Given the description of an element on the screen output the (x, y) to click on. 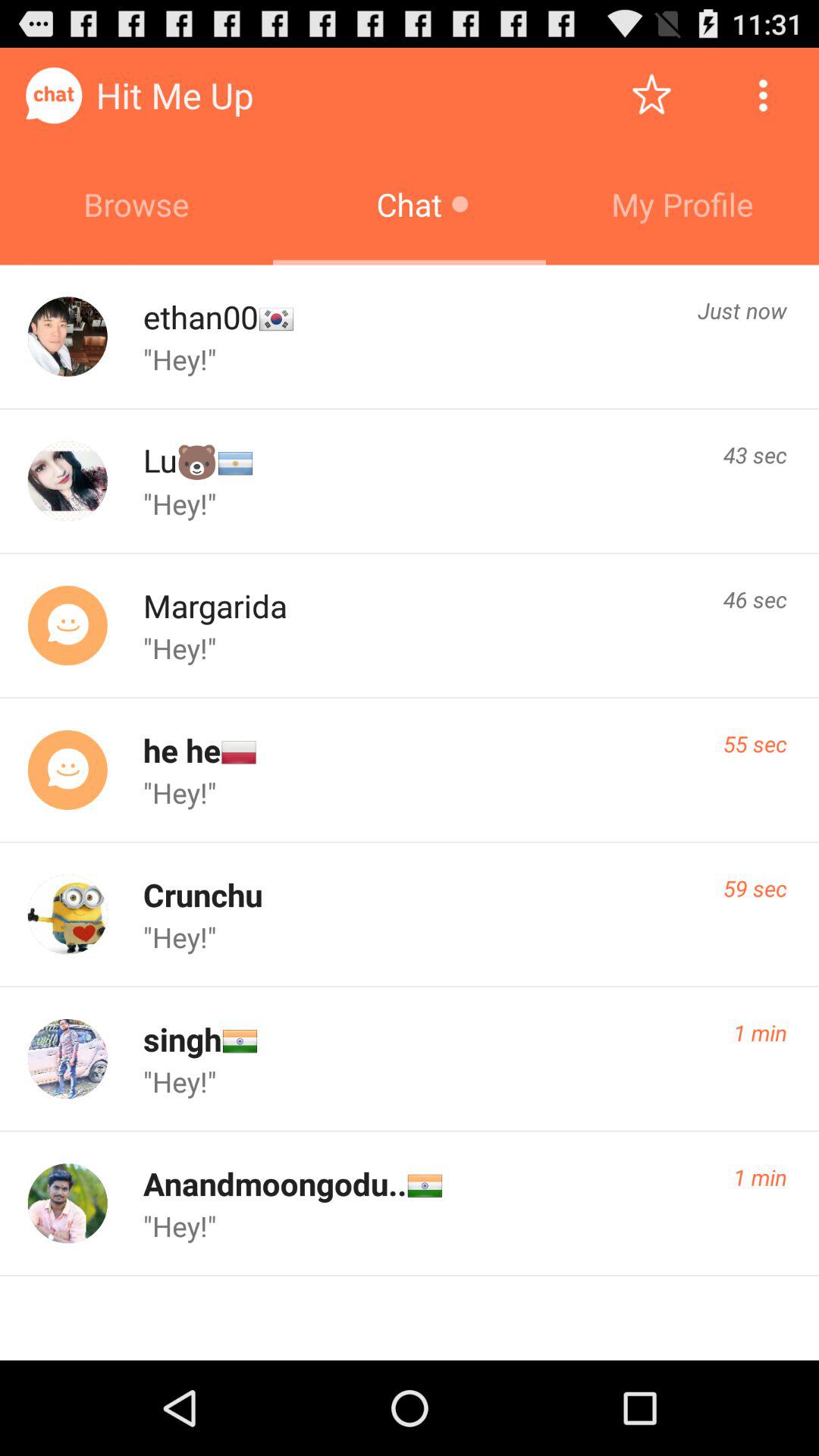
this button is used to bookmark the pafe as one of your favorites (651, 95)
